Given the description of an element on the screen output the (x, y) to click on. 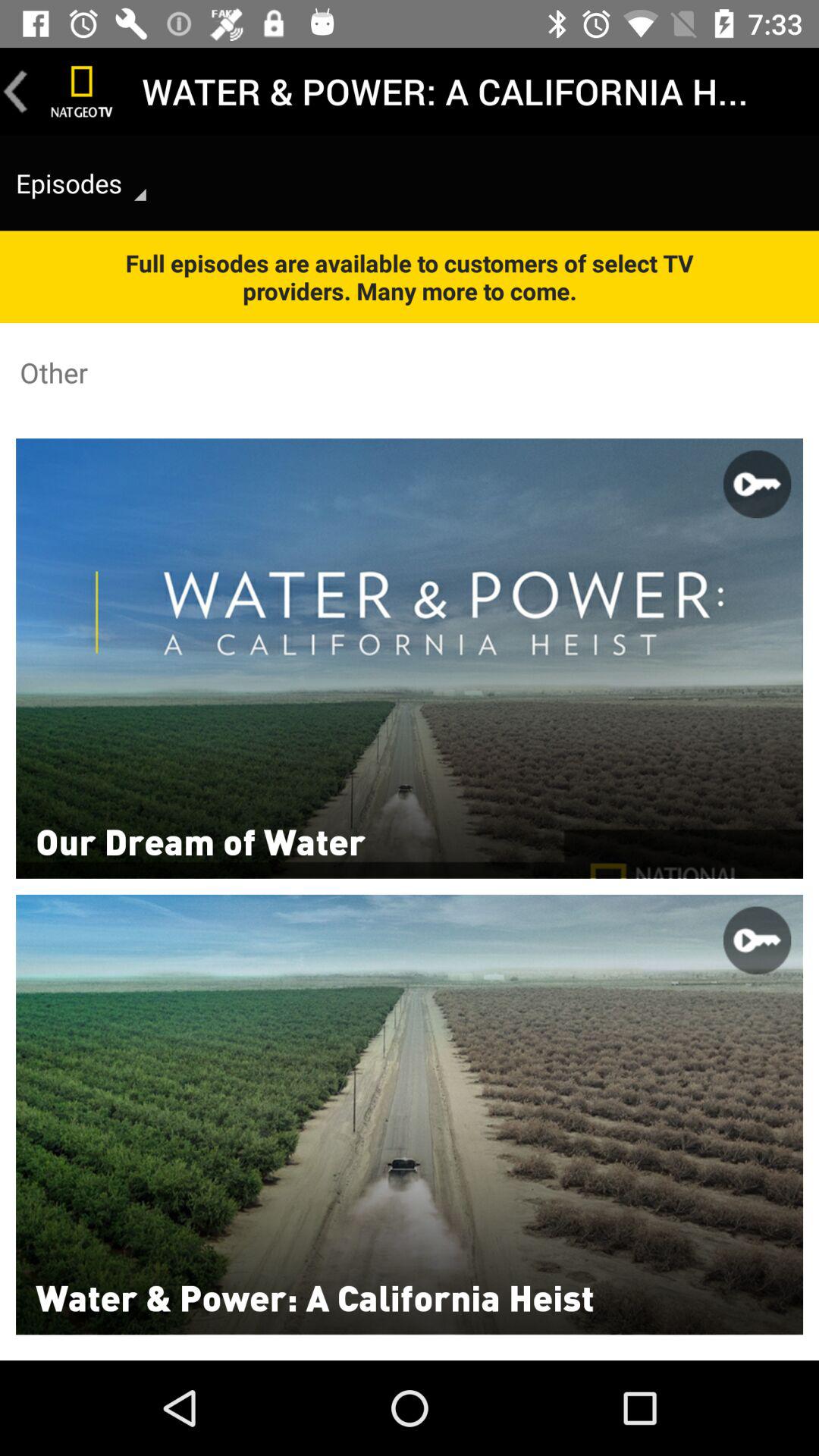
choose icon next to the water power a icon (81, 91)
